Given the description of an element on the screen output the (x, y) to click on. 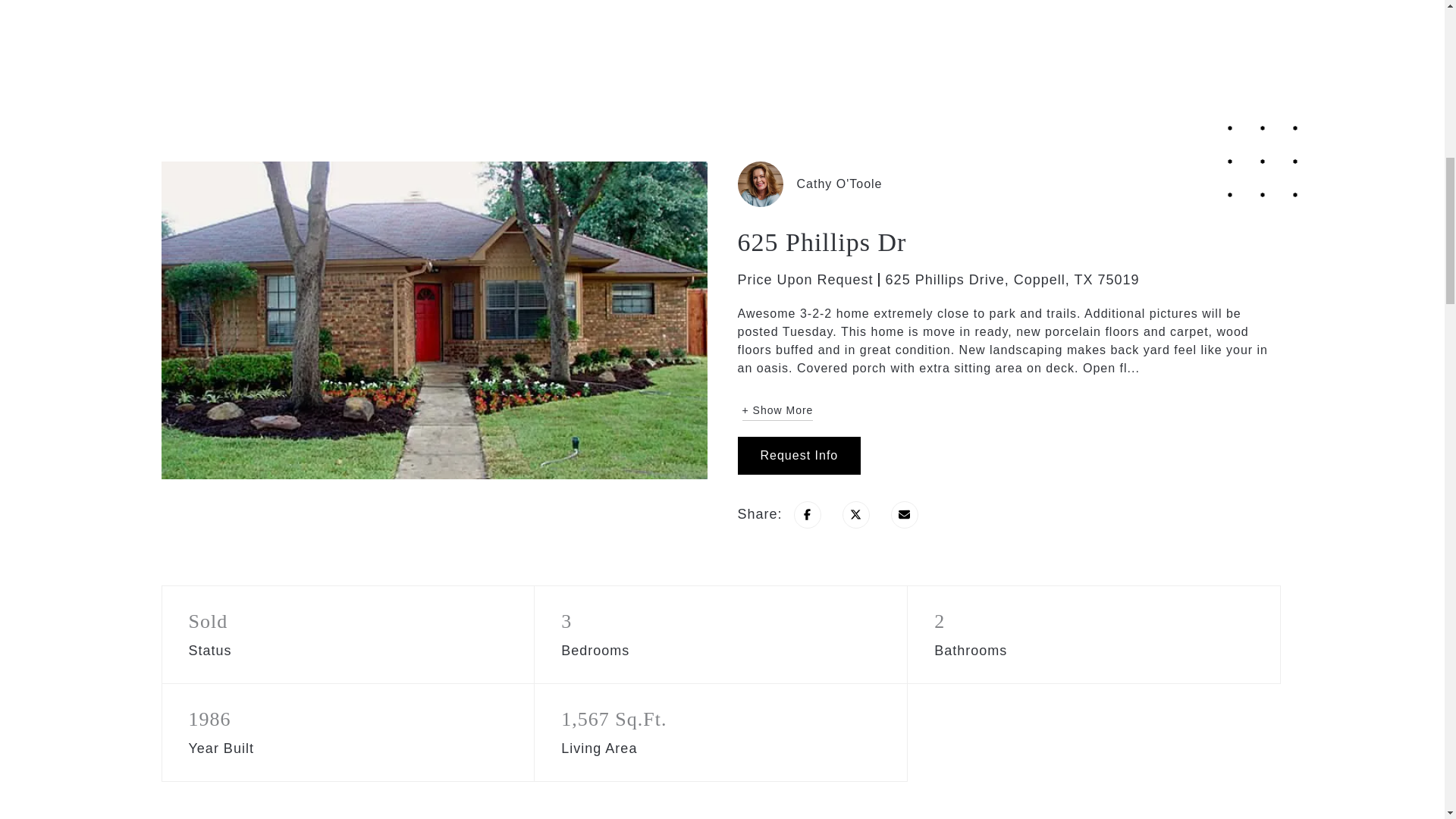
Request Info (798, 455)
